Given the description of an element on the screen output the (x, y) to click on. 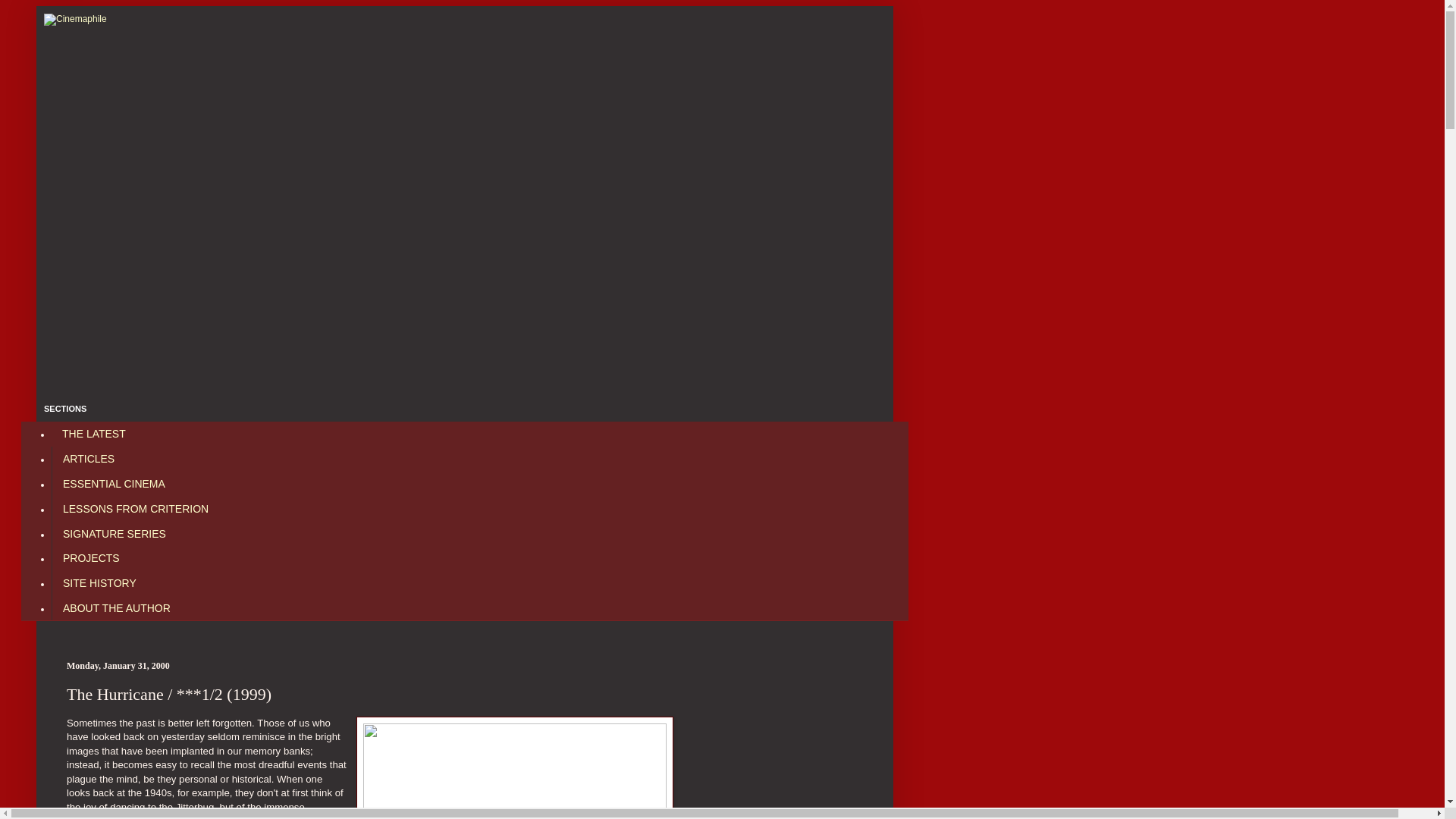
THE LATEST (93, 433)
ABOUT THE AUTHOR (115, 607)
ESSENTIAL CINEMA (113, 483)
PROJECTS (90, 558)
SITE HISTORY (98, 583)
SIGNATURE SERIES (113, 533)
LESSONS FROM CRITERION (134, 508)
ARTICLES (87, 458)
